Given the description of an element on the screen output the (x, y) to click on. 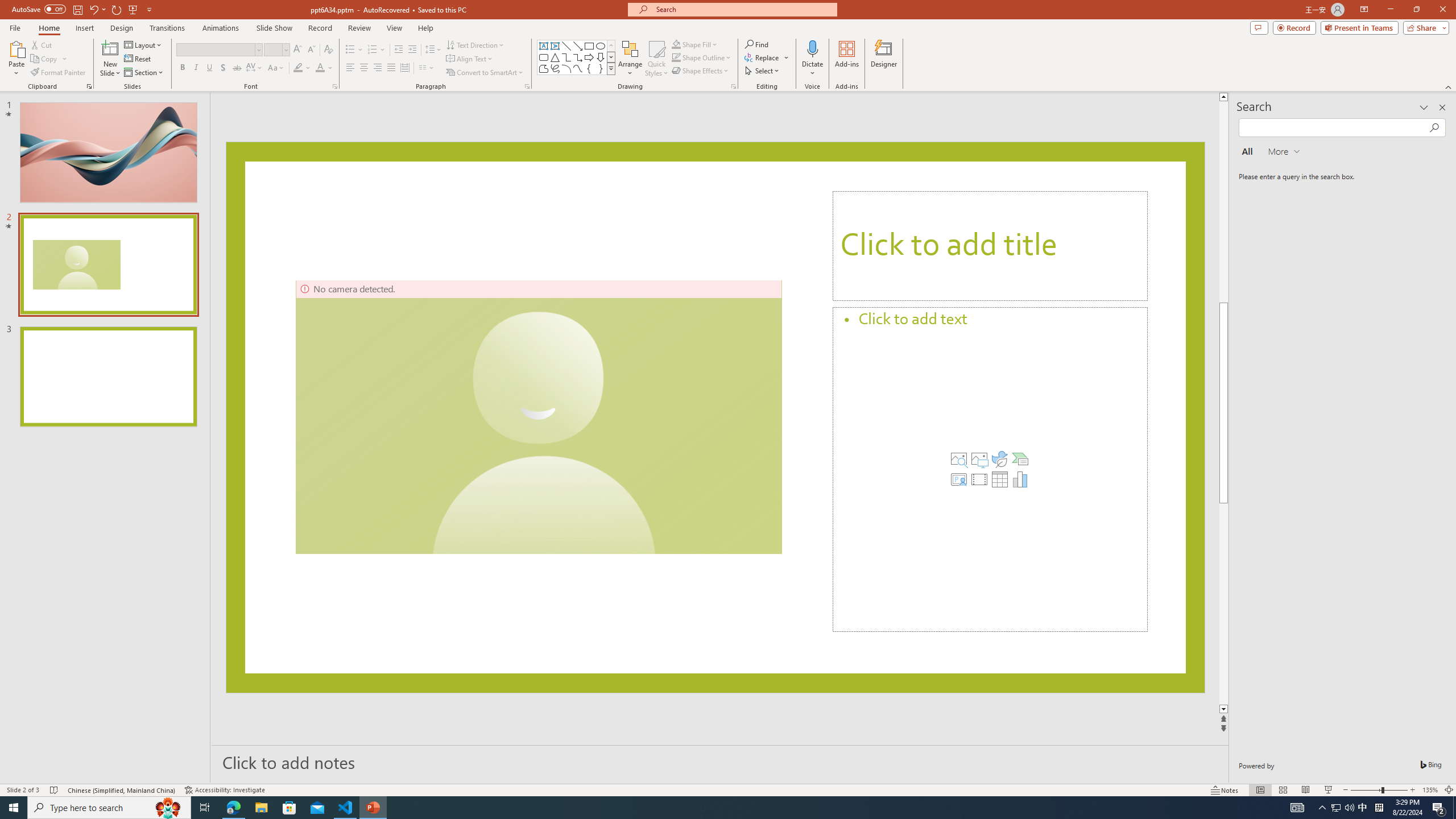
Zoom In (1412, 790)
Connector: Elbow (566, 57)
Slide Sorter (1282, 790)
Shape Outline (701, 56)
Shapes (611, 68)
Rectangle: Rounded Corners (543, 57)
New Slide (110, 58)
Class: NetUIImage (610, 68)
Section (144, 72)
Insert a SmartArt Graphic (1020, 458)
Rectangle (589, 45)
Increase Font Size (297, 49)
Row up (611, 45)
